Given the description of an element on the screen output the (x, y) to click on. 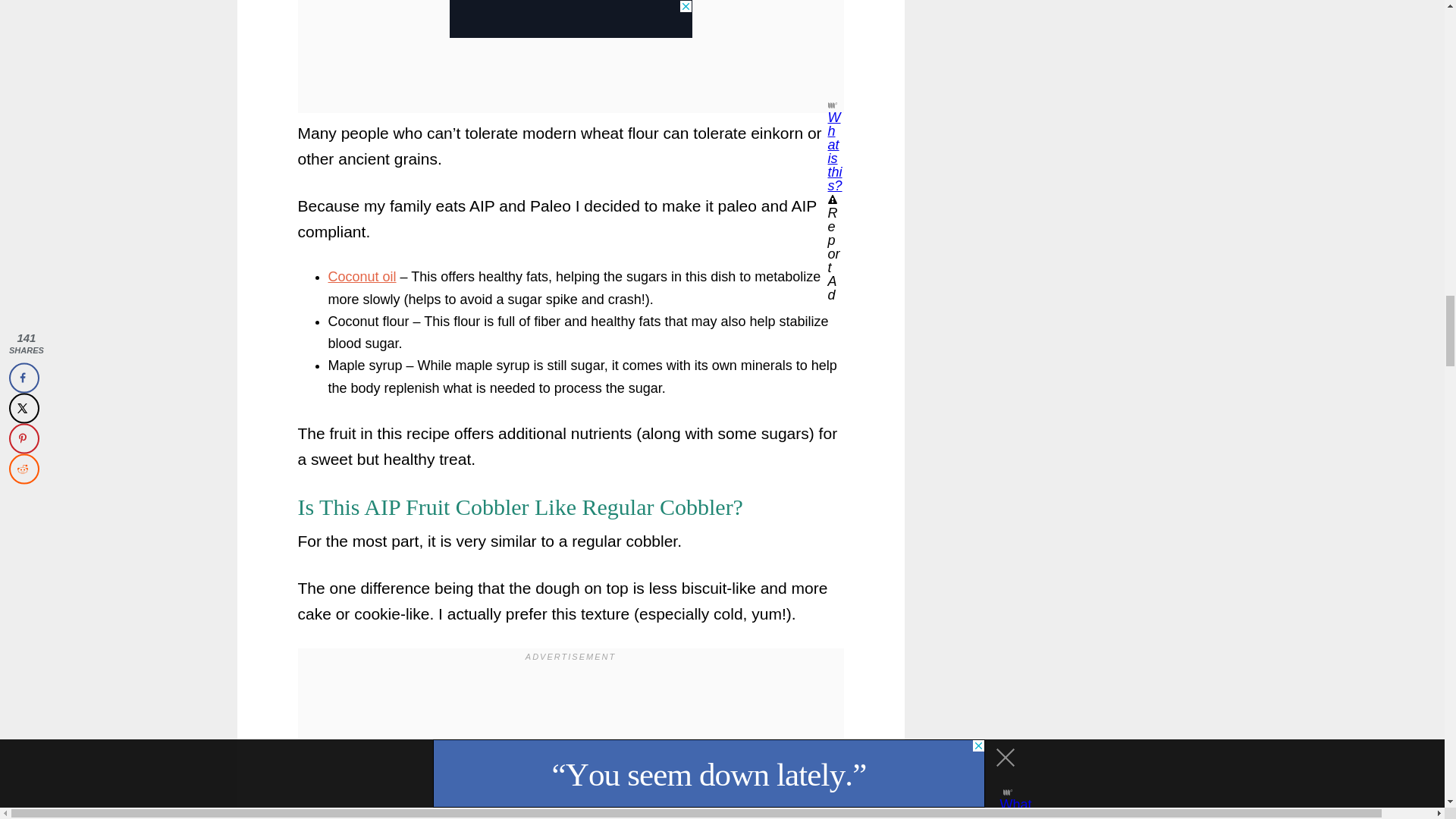
Coconut oil (361, 276)
